Given the description of an element on the screen output the (x, y) to click on. 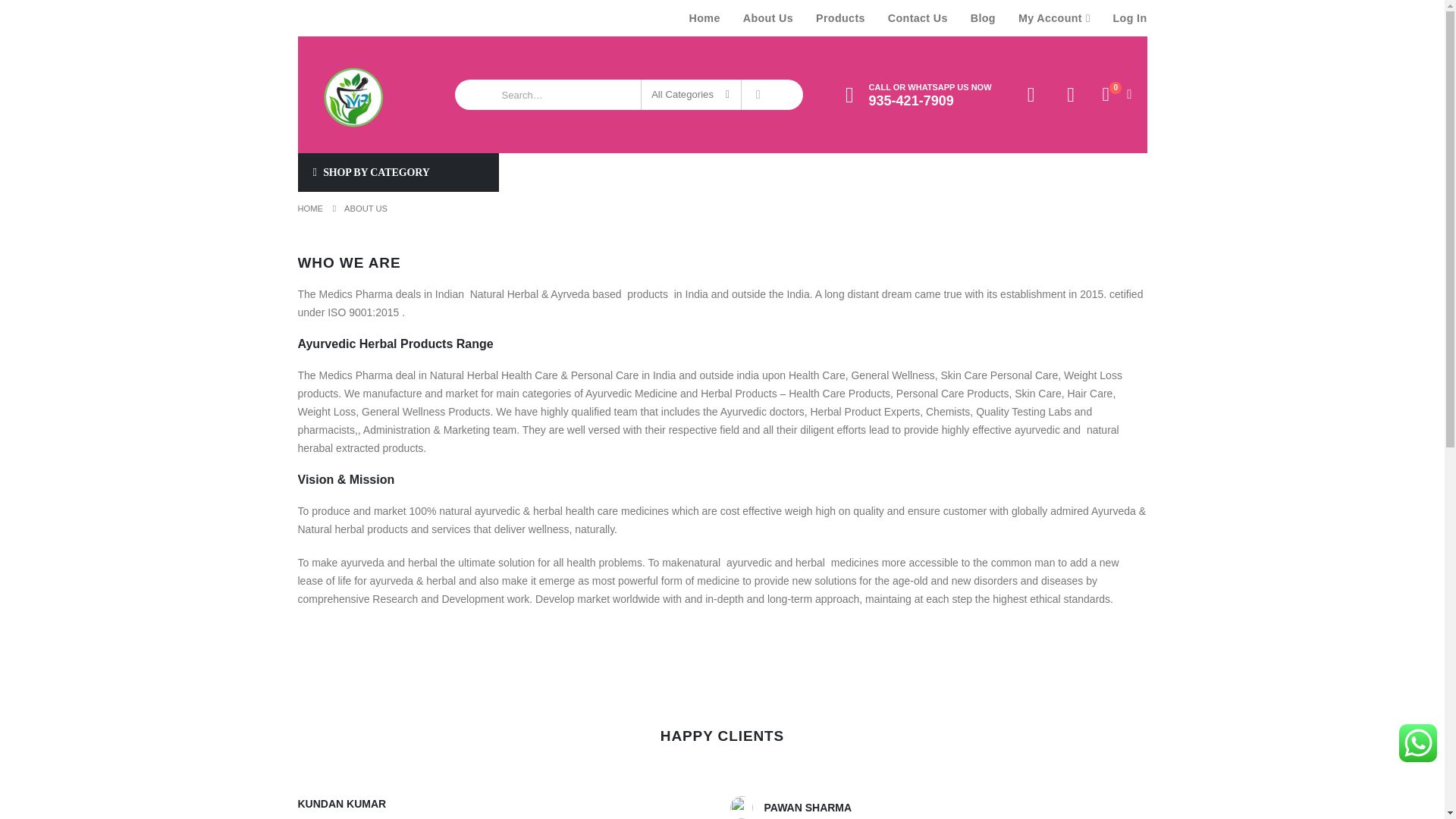
My Account (1054, 17)
Products (840, 17)
Wishlist (1071, 95)
Home (705, 17)
Medics Pharma - Herbal Health Care Products (350, 94)
Contact Us (917, 17)
Go to Home Page (310, 208)
Search (757, 94)
My Account (1030, 95)
Log In (1124, 17)
HOME (310, 208)
WhatsApp us (1418, 742)
About Us (768, 17)
Blog (983, 17)
